Given the description of an element on the screen output the (x, y) to click on. 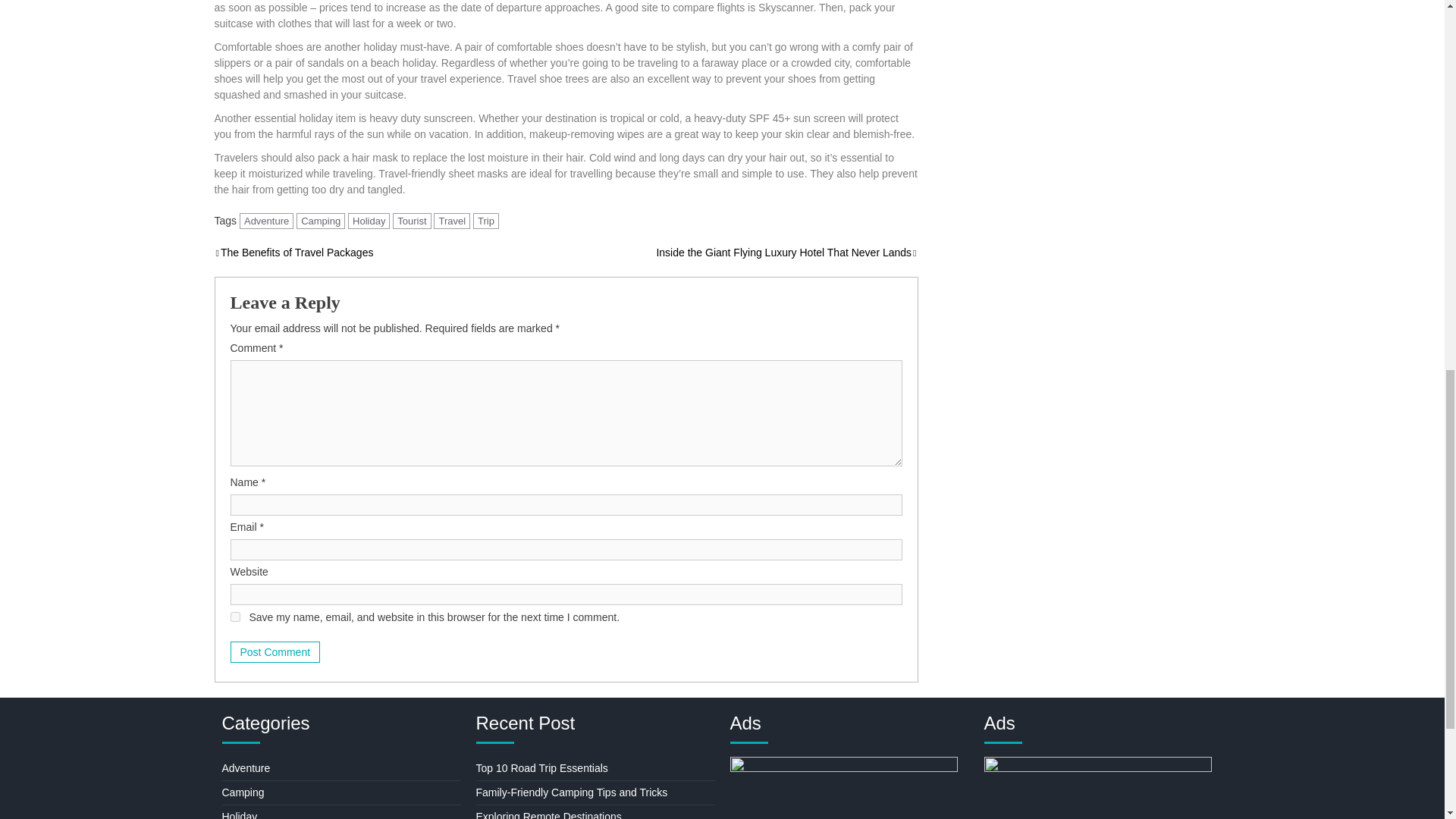
Trip (486, 220)
Holiday (239, 814)
Camping (242, 792)
Holiday (368, 220)
Top 10 Road Trip Essentials (542, 767)
Travel (451, 220)
Post Comment (275, 651)
Exploring Remote Destinations (548, 814)
Family-Friendly Camping Tips and Tricks (572, 792)
Post Comment (275, 651)
Camping (321, 220)
Inside the Giant Flying Luxury Hotel That Never Lands (786, 252)
Tourist (411, 220)
Adventure (267, 220)
The Benefits of Travel Packages (293, 252)
